Given the description of an element on the screen output the (x, y) to click on. 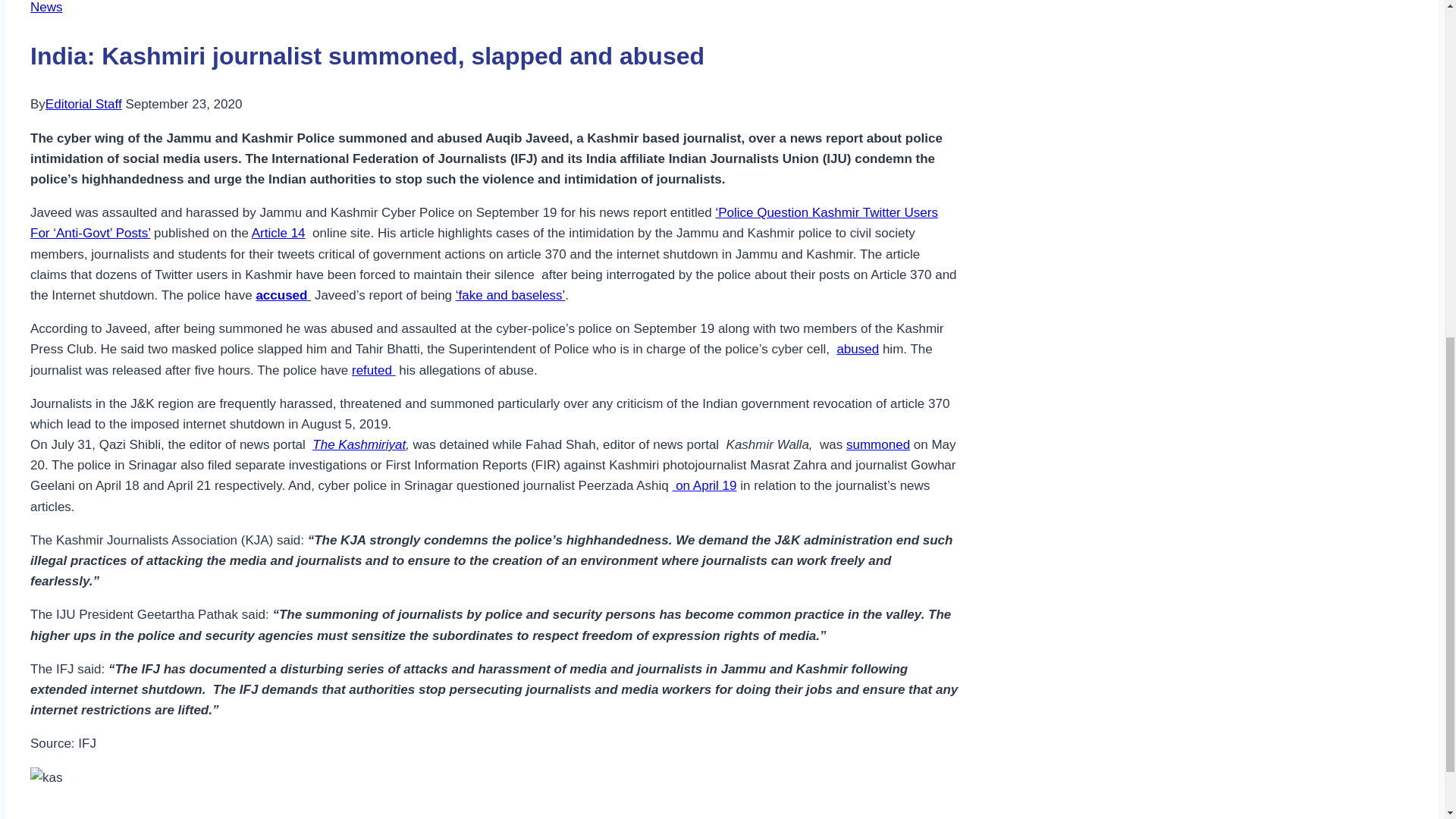
refuted  (374, 369)
News (46, 7)
Article 14 (278, 233)
 on April 19 (703, 485)
accused (281, 295)
summoned (877, 444)
abused (857, 349)
The Kashmiriyat (359, 444)
India: Kashmiri journalist summoned, slapped and abused 1 (46, 777)
Editorial Staff (83, 104)
